Given the description of an element on the screen output the (x, y) to click on. 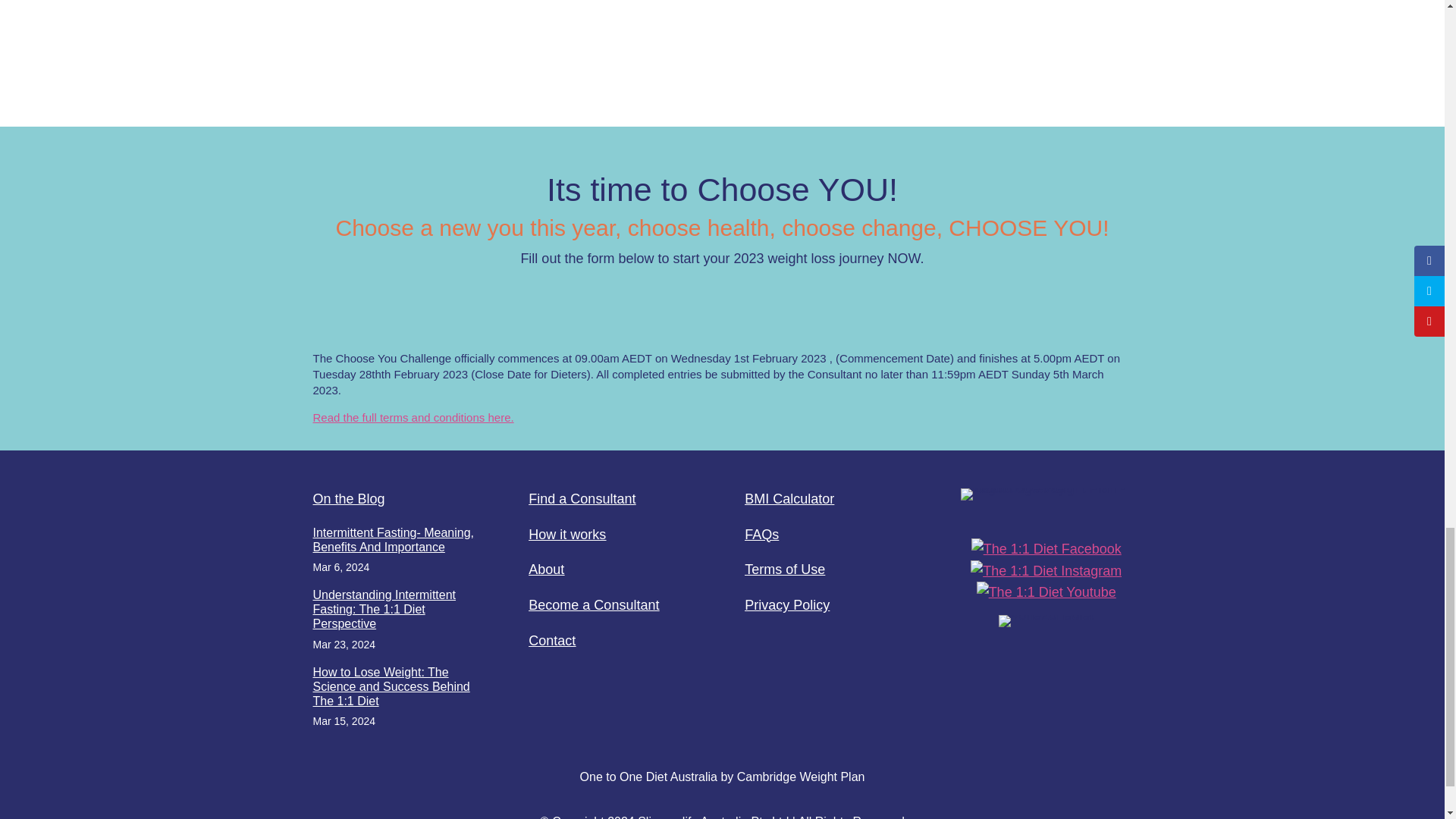
Become a Consultant (593, 604)
Privacy Policy (786, 604)
On the Blog (348, 498)
Terms of Use (784, 569)
logo-footer-one2onediet (1045, 494)
BMI Calculator (789, 498)
FAQs (761, 534)
Find a Consultant (581, 498)
landing-page-success-story-heidi-dilkes (505, 36)
